Given the description of an element on the screen output the (x, y) to click on. 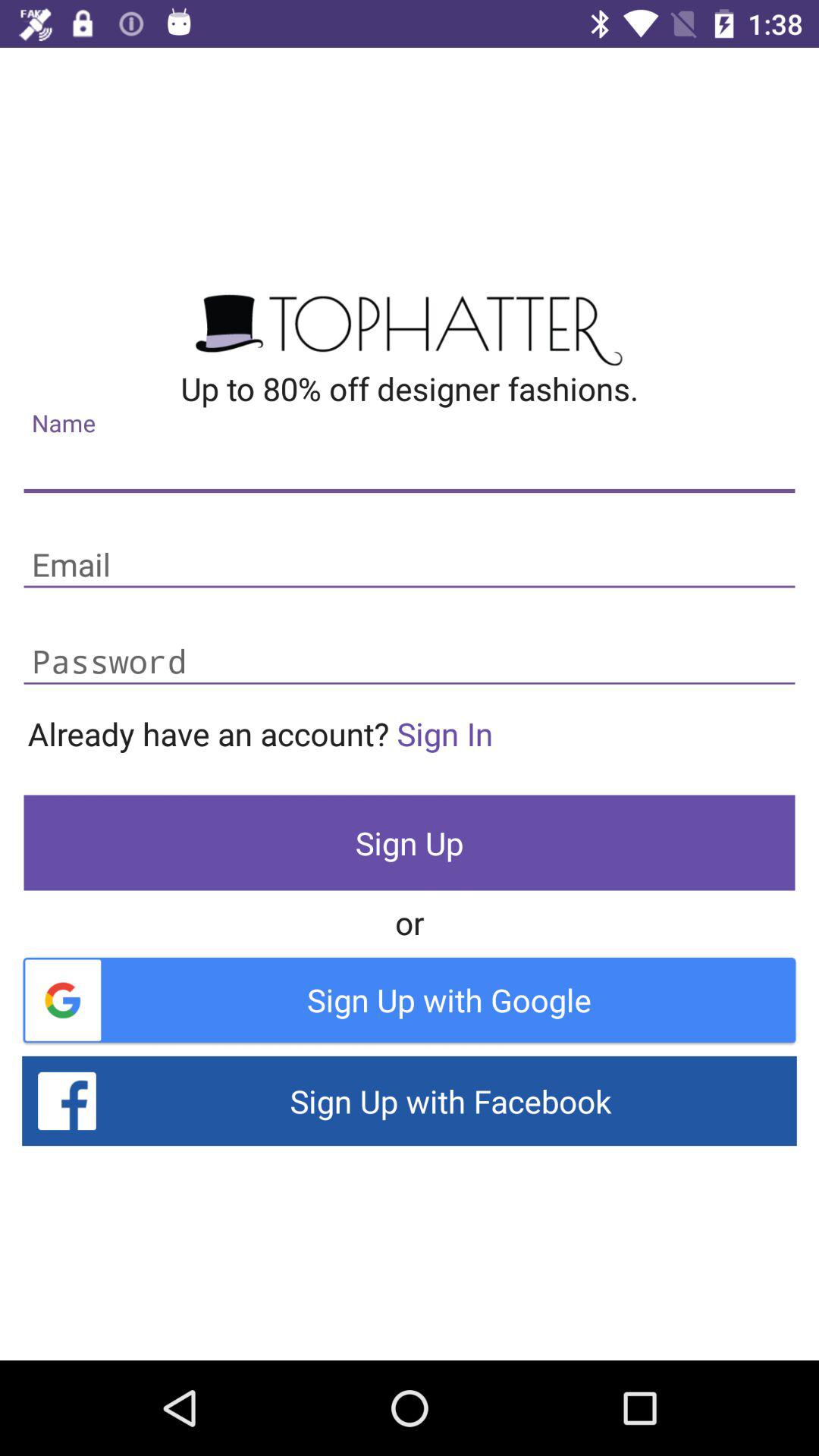
fill the option (409, 662)
